Given the description of an element on the screen output the (x, y) to click on. 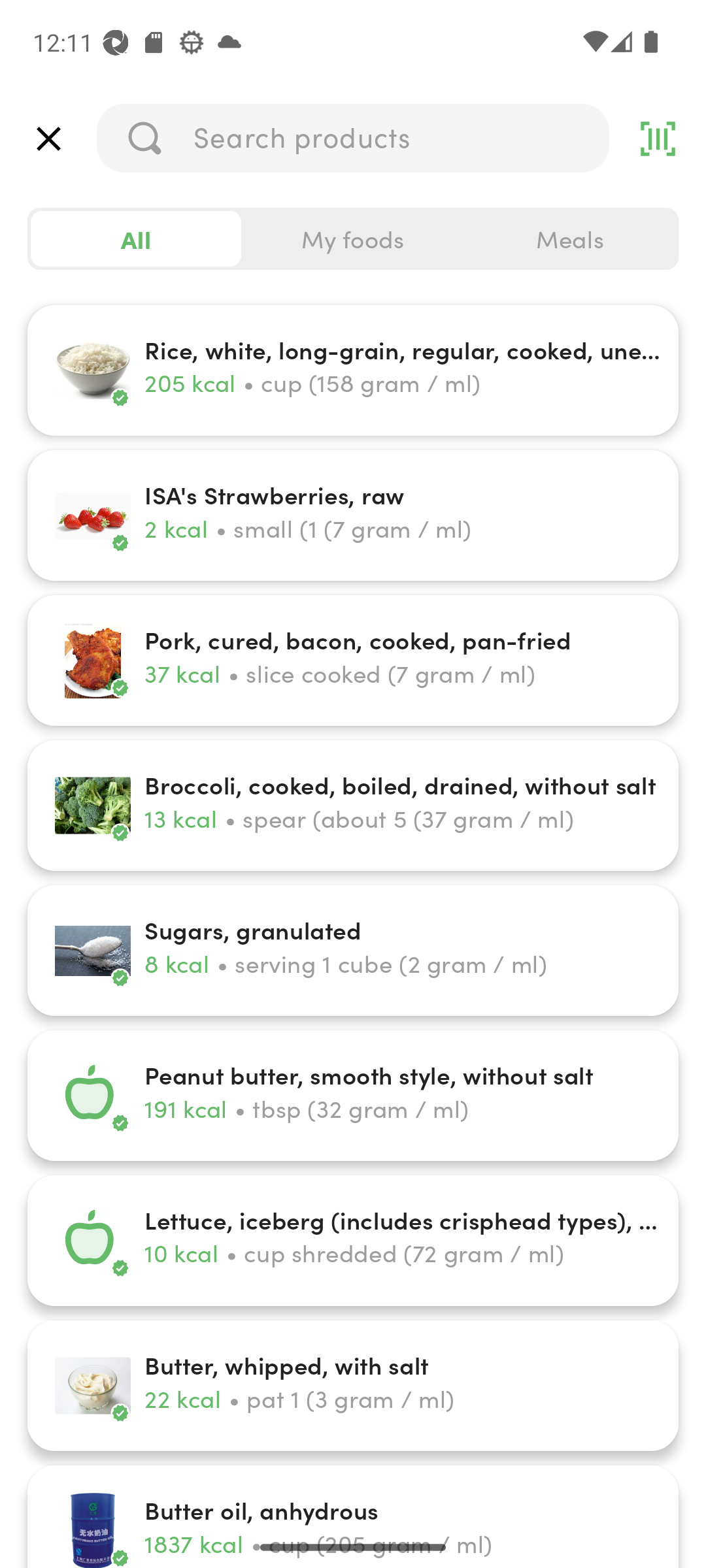
top_left_action (48, 138)
top_right_action (658, 138)
My foods (352, 238)
Meals (569, 238)
